Given the description of an element on the screen output the (x, y) to click on. 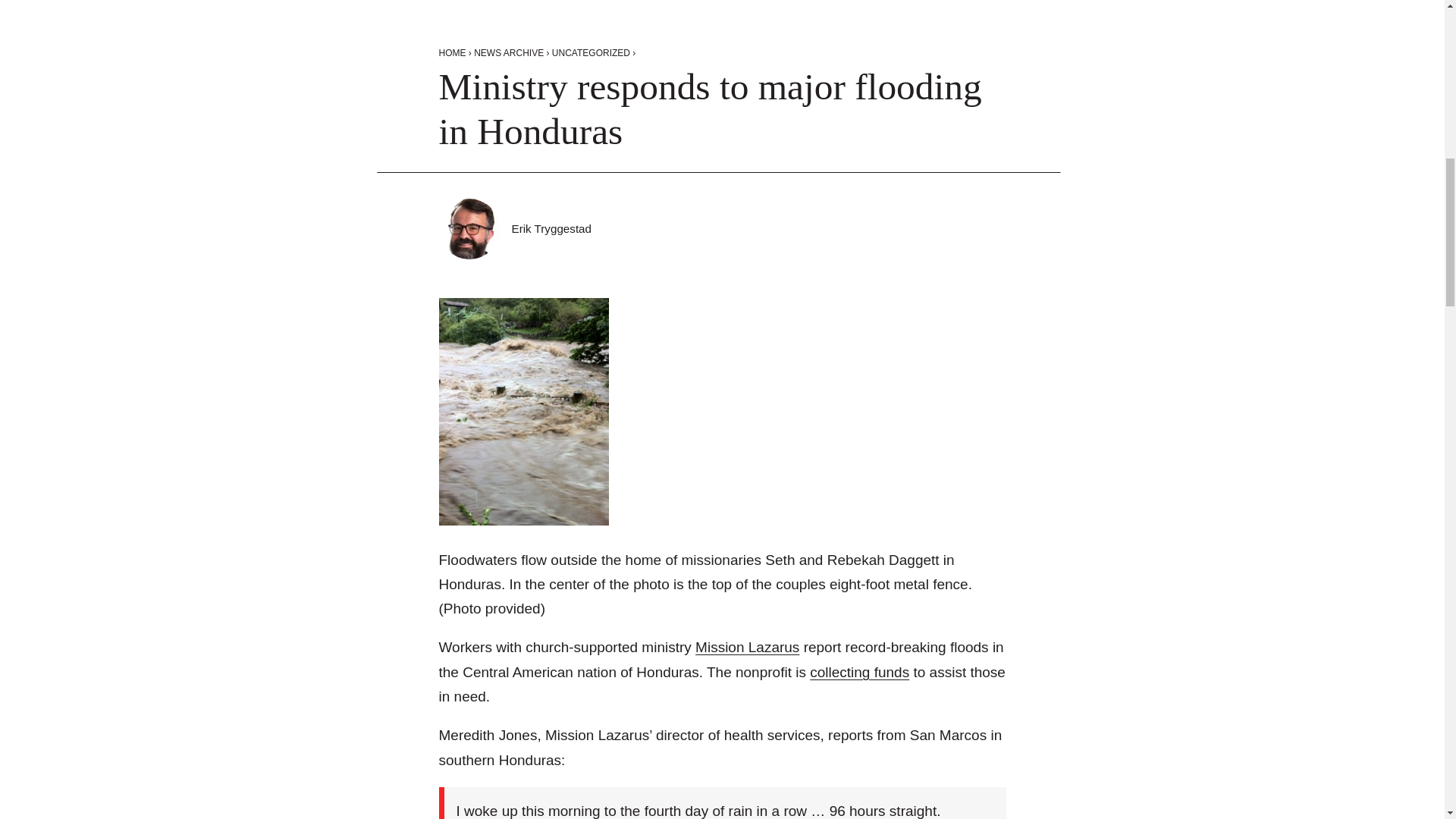
The Christian Chronicle (551, 228)
